Given the description of an element on the screen output the (x, y) to click on. 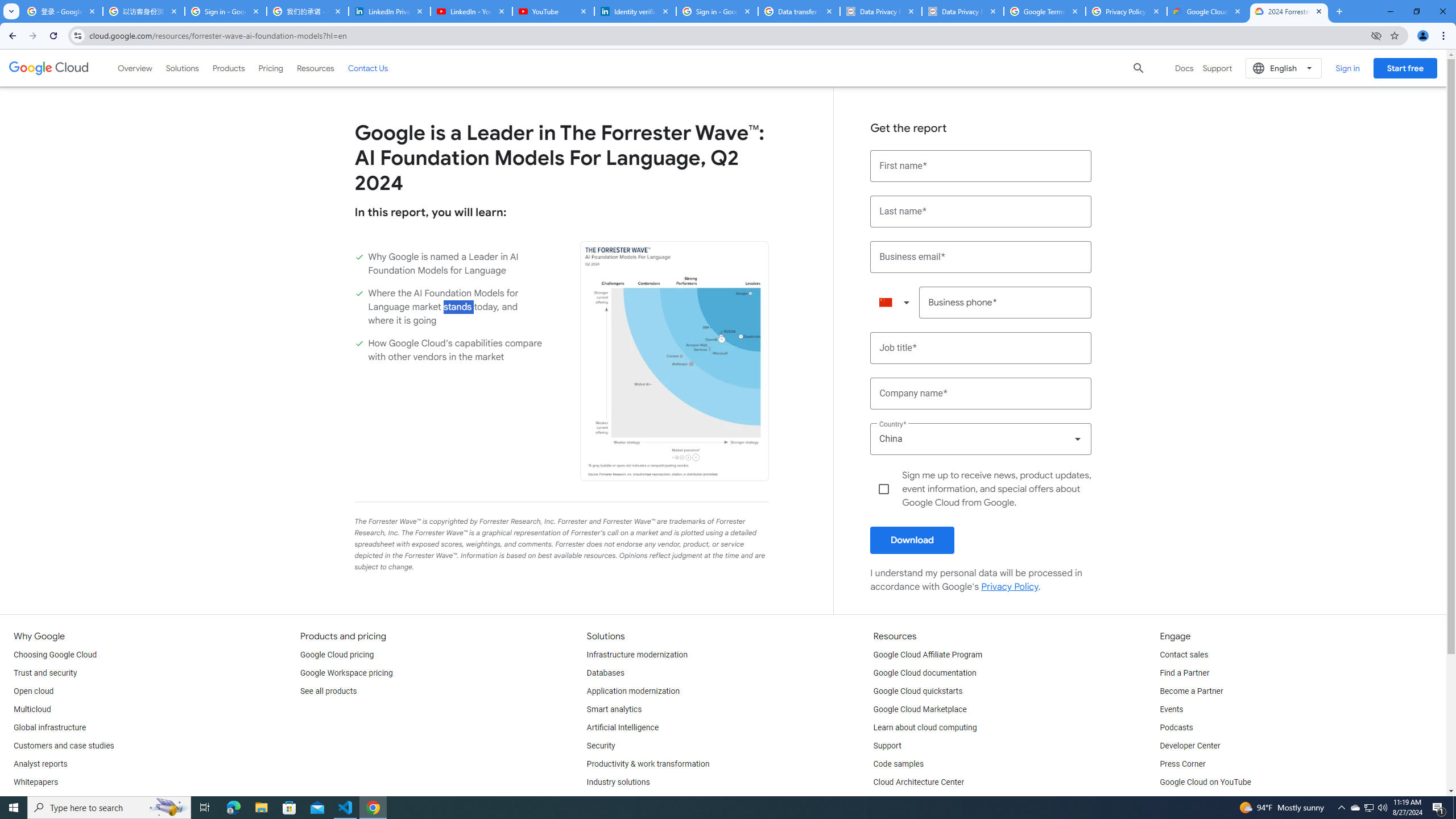
LinkedIn - YouTube (470, 11)
Google Cloud documentation (924, 673)
Code samples (898, 764)
Support (887, 746)
Data Privacy Framework (963, 11)
Multicloud (31, 710)
Data Privacy Framework (880, 11)
Google Cloud on YouTube (1204, 782)
Sign in - Google Accounts (225, 11)
